Given the description of an element on the screen output the (x, y) to click on. 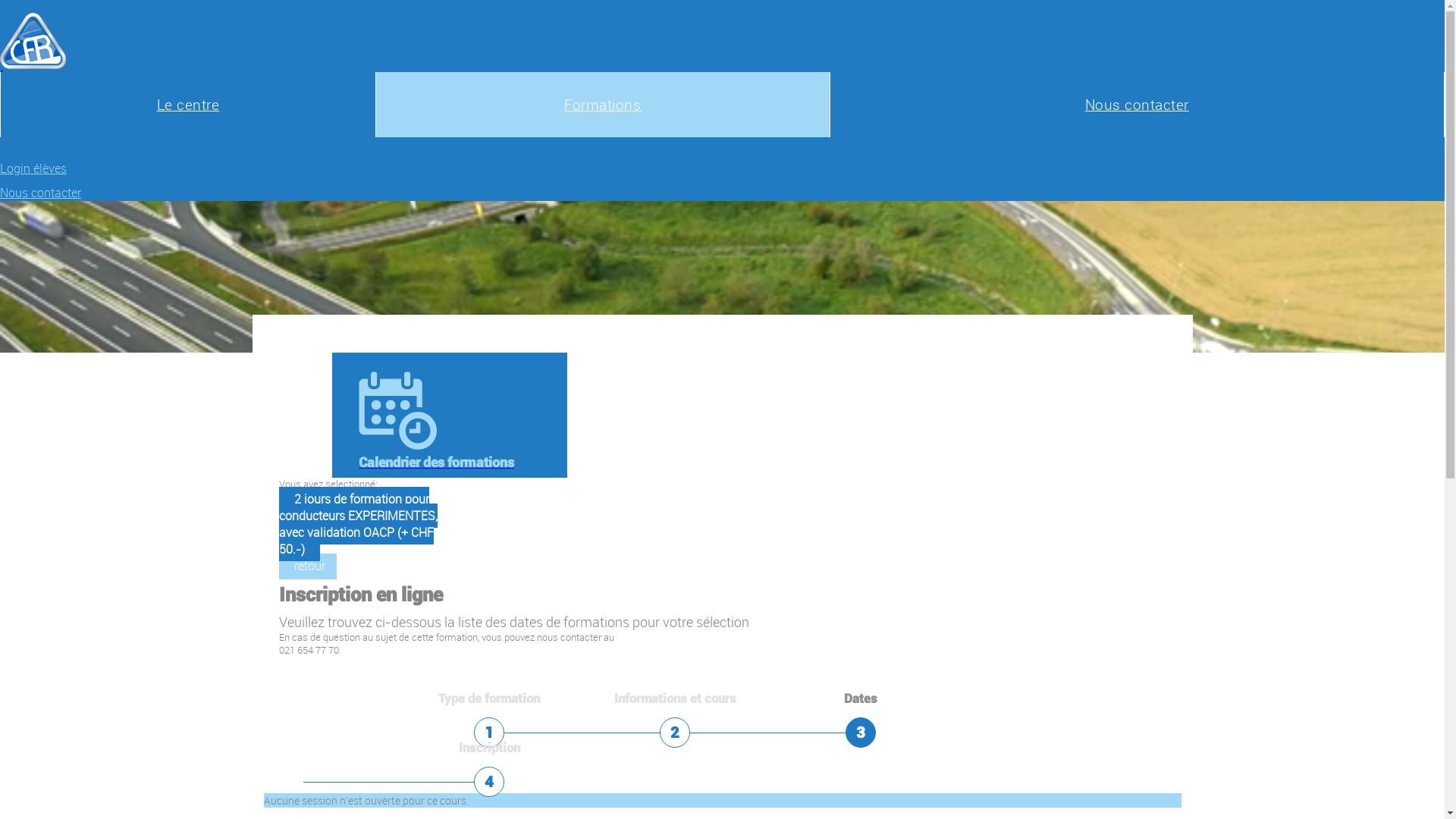
Calendrier des formations Element type: text (452, 420)
retour Element type: text (307, 566)
Nous contacter Element type: text (1137, 104)
Le centre Element type: text (187, 104)
Nous contacter Element type: text (722, 192)
021 654 77 70 Element type: text (308, 649)
Formations Element type: text (602, 104)
